Given the description of an element on the screen output the (x, y) to click on. 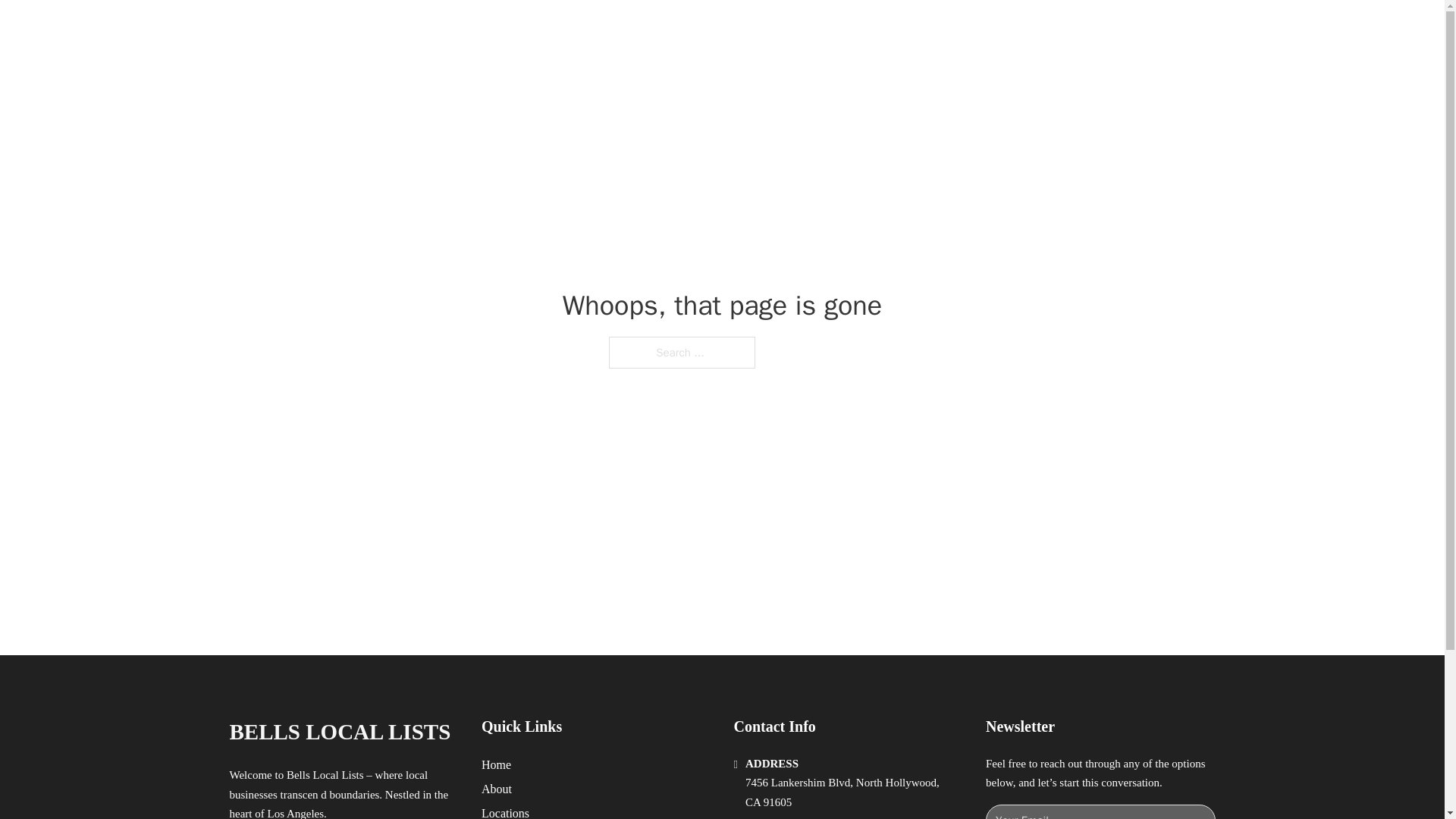
Locations (505, 811)
Home (496, 764)
HOME (919, 29)
BELLS LOCAL LISTS (409, 28)
About (496, 788)
LOCATIONS (990, 29)
BELLS LOCAL LISTS (338, 732)
